Given the description of an element on the screen output the (x, y) to click on. 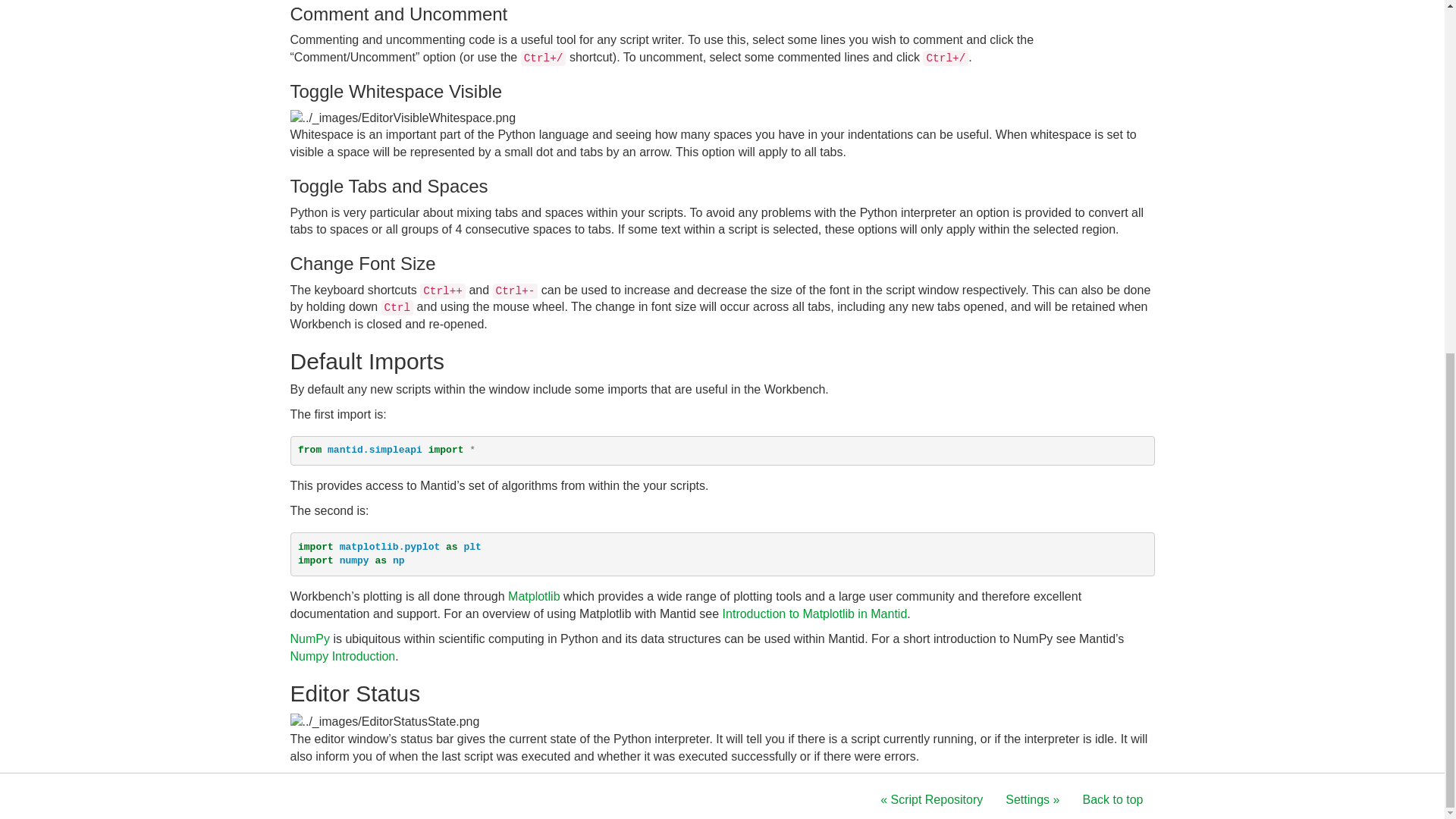
Numpy Introduction (341, 656)
Introduction to Matplotlib in Mantid (814, 613)
NumPy (309, 638)
Matplotlib (533, 595)
